Given the description of an element on the screen output the (x, y) to click on. 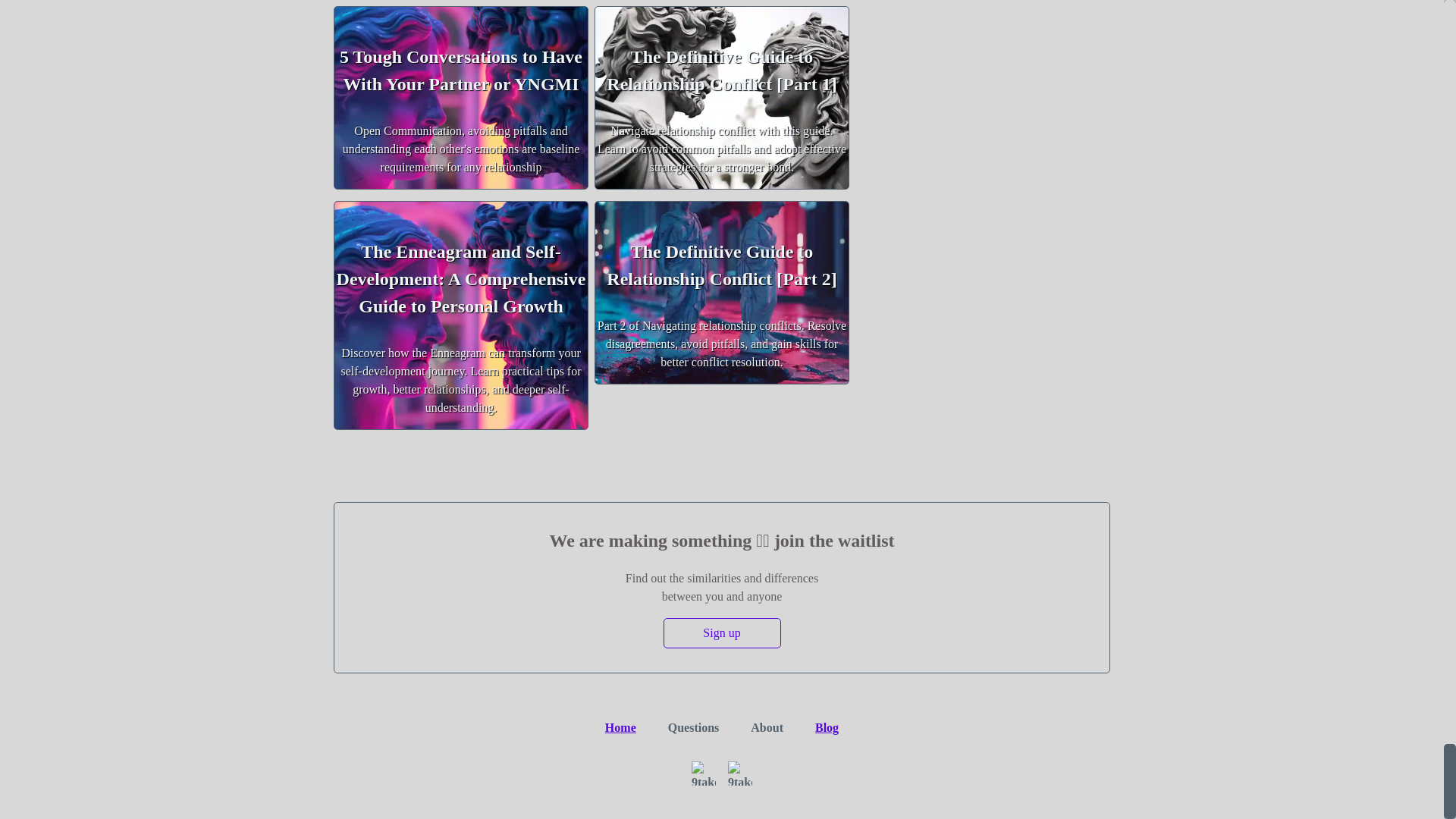
9takesdotcom Twitter (740, 773)
9takesdotcom Instagram (703, 773)
